Given the description of an element on the screen output the (x, y) to click on. 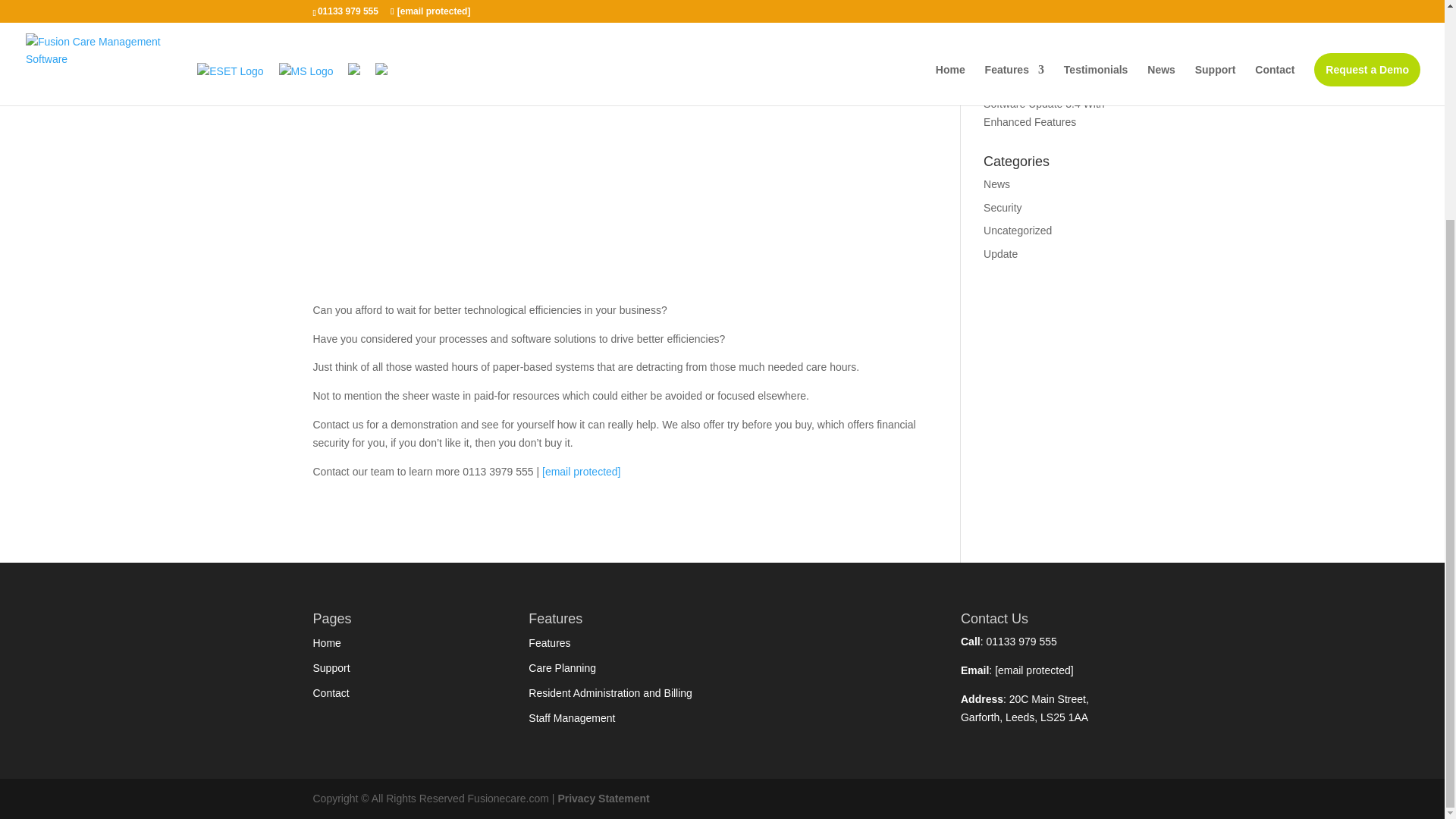
Update (1000, 254)
Resident Administration and Billing (610, 693)
A New Era in Social Care for Digital Health Care Management (1051, 44)
Security (1003, 207)
Uncategorized (1017, 230)
DCB 0129 Clinical Safety Approved (1043, 4)
Home (326, 643)
News (997, 184)
Staff Management (571, 717)
Contact (331, 693)
Support (331, 667)
Features (549, 643)
Care Planning (561, 667)
Privacy Statement (603, 798)
